Given the description of an element on the screen output the (x, y) to click on. 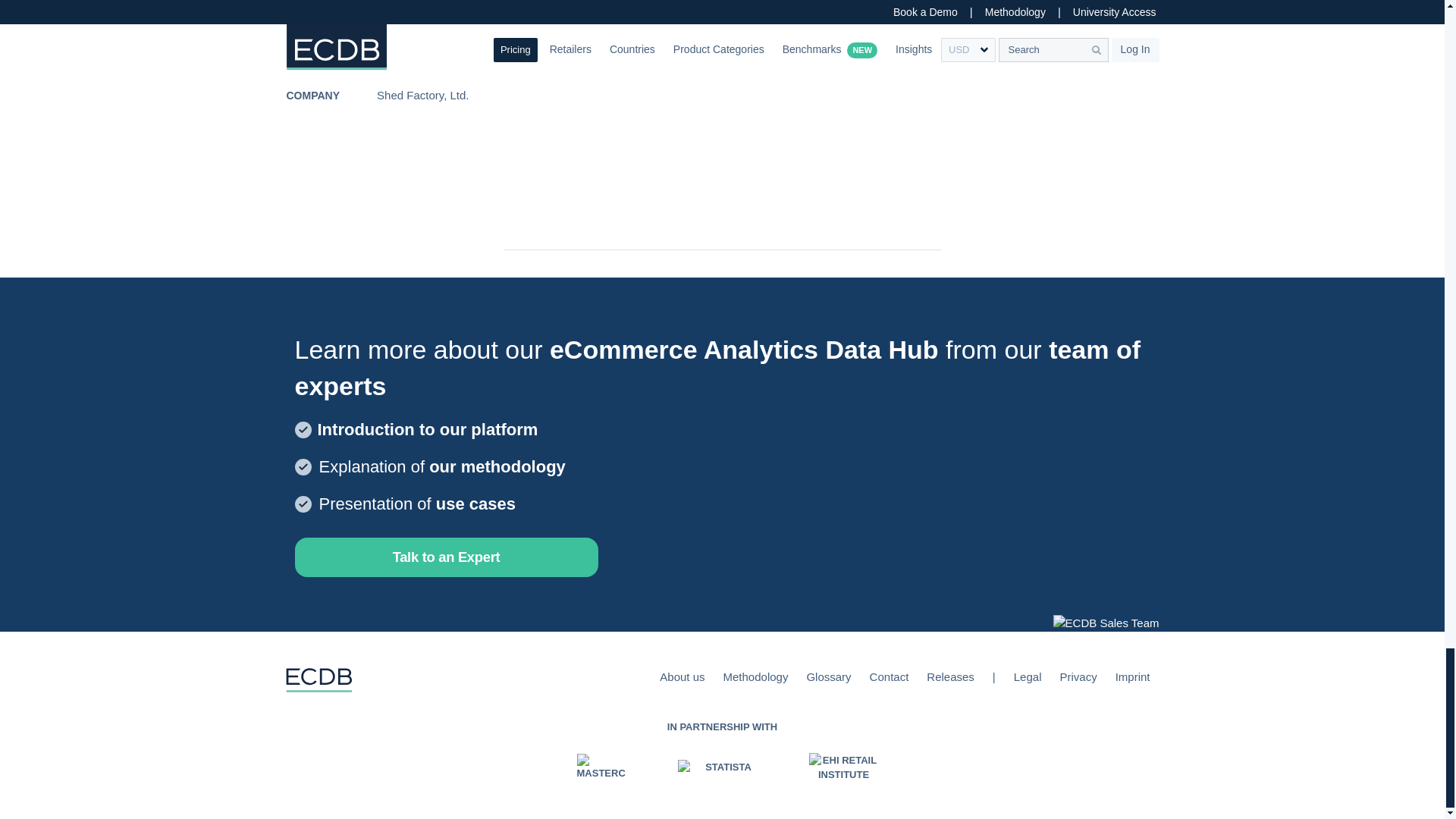
Mastercard (600, 767)
EHI Retail Institute (842, 767)
Statista (722, 767)
